Given the description of an element on the screen output the (x, y) to click on. 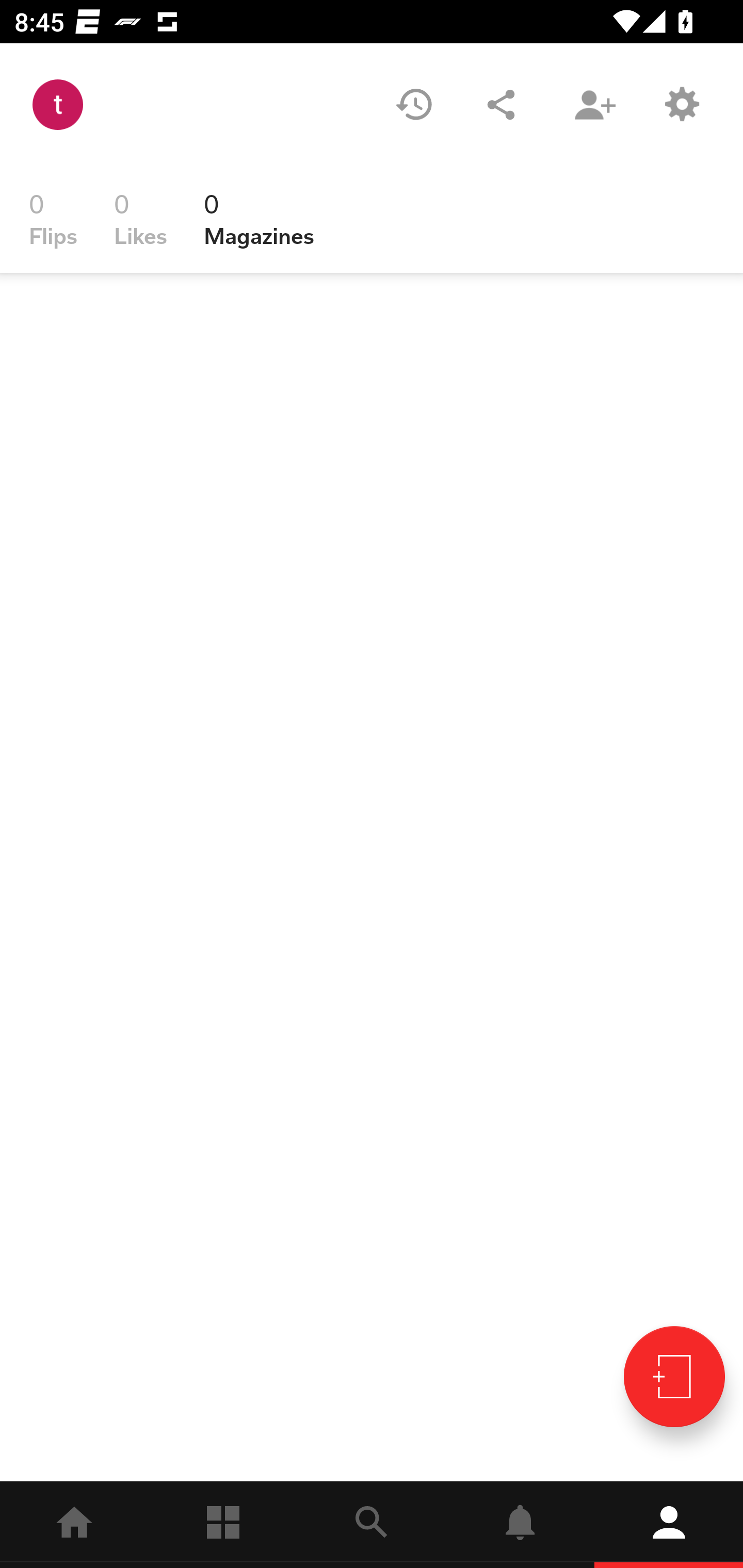
Share (500, 104)
Find Friends (594, 104)
Settings (681, 104)
0 Flips (53, 219)
0 Likes (140, 219)
0 Magazines (258, 219)
home (74, 1524)
Following (222, 1524)
explore (371, 1524)
Notifications (519, 1524)
Profile (668, 1524)
